Given the description of an element on the screen output the (x, y) to click on. 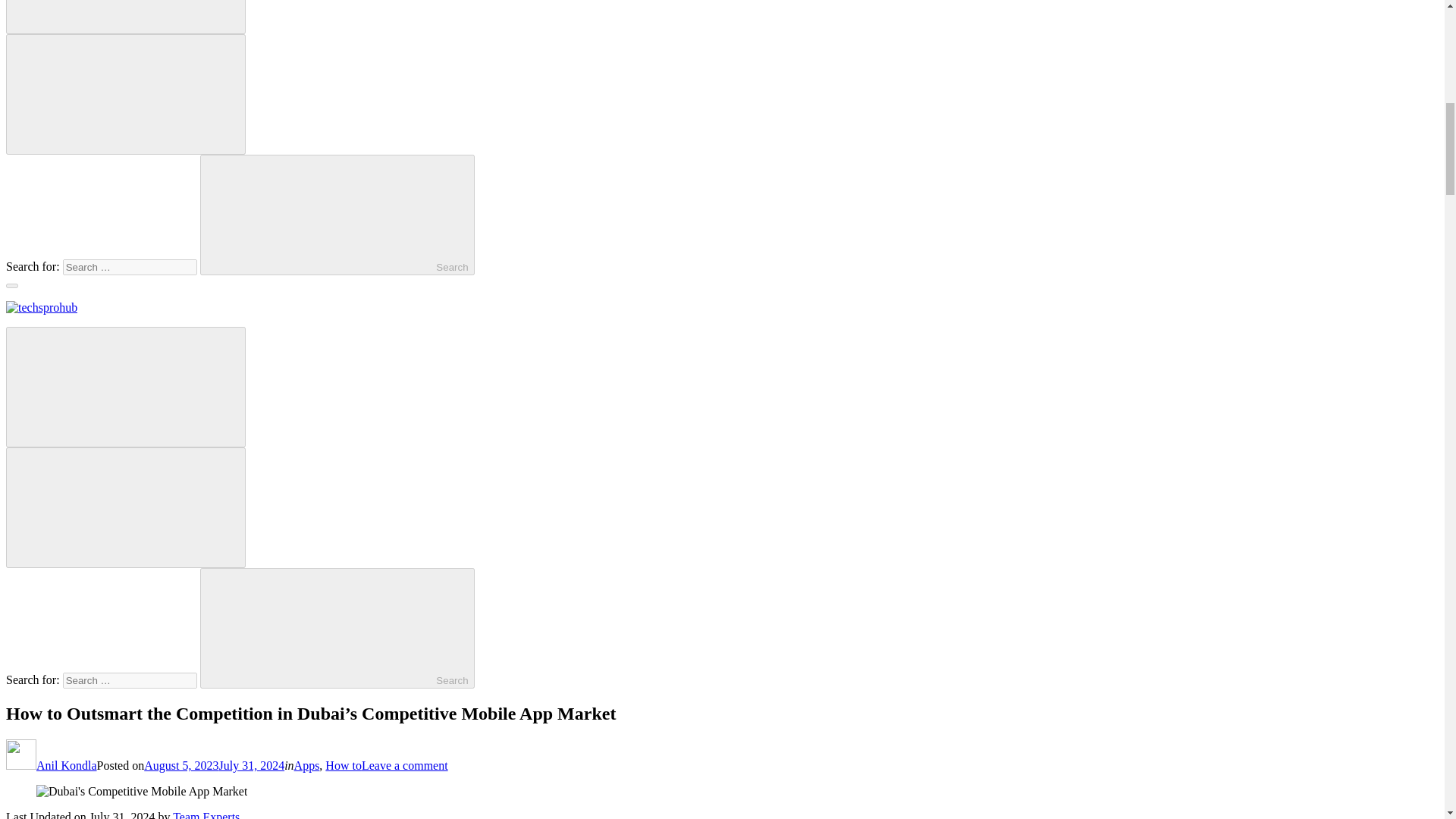
Apps (307, 765)
Search (337, 628)
Leave a comment (404, 765)
Search (337, 214)
How to (342, 765)
August 5, 2023July 31, 2024 (213, 765)
Anil Kondla (51, 765)
